Given the description of an element on the screen output the (x, y) to click on. 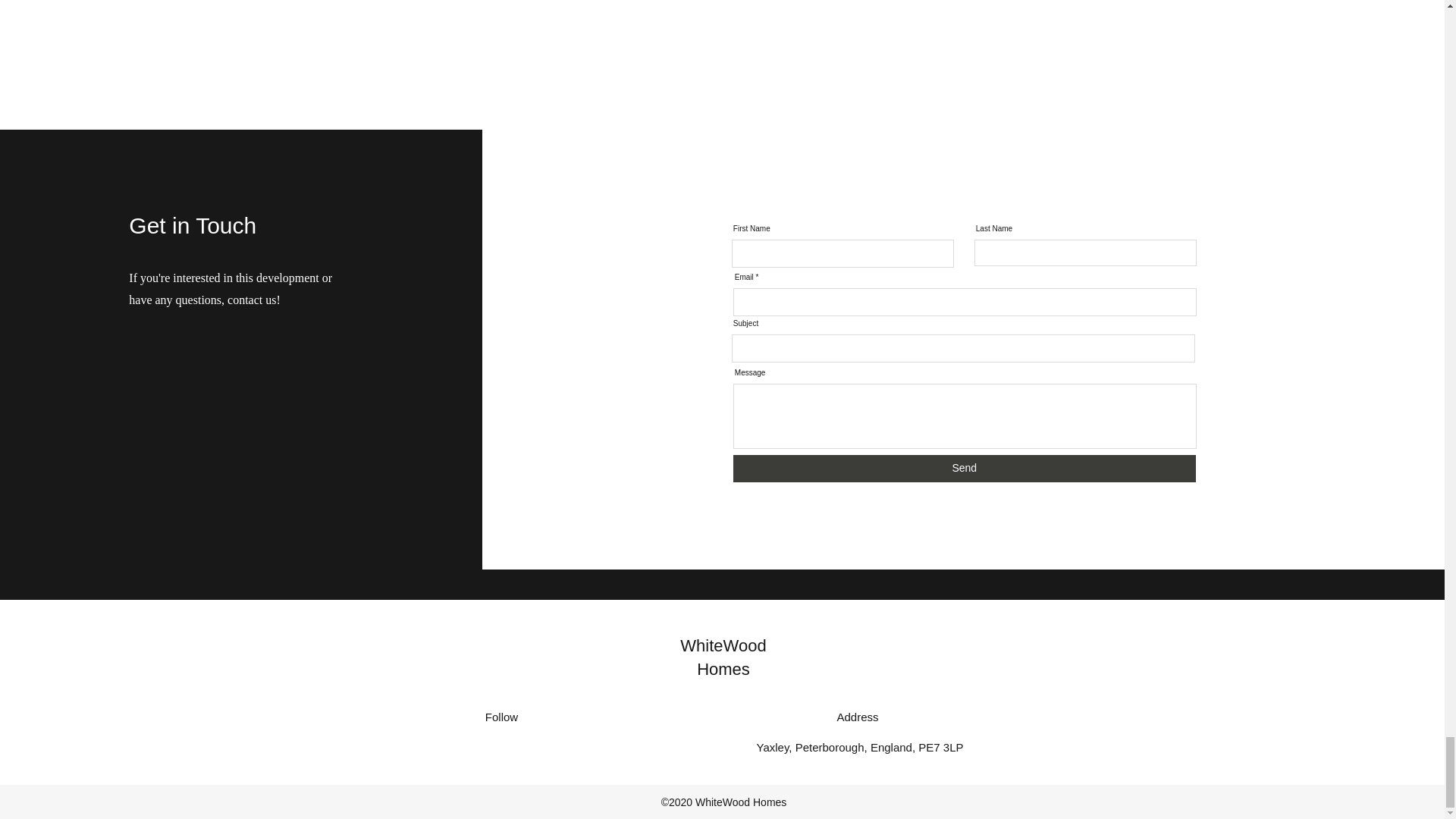
Send (964, 468)
WhiteWood Homes (722, 657)
